Given the description of an element on the screen output the (x, y) to click on. 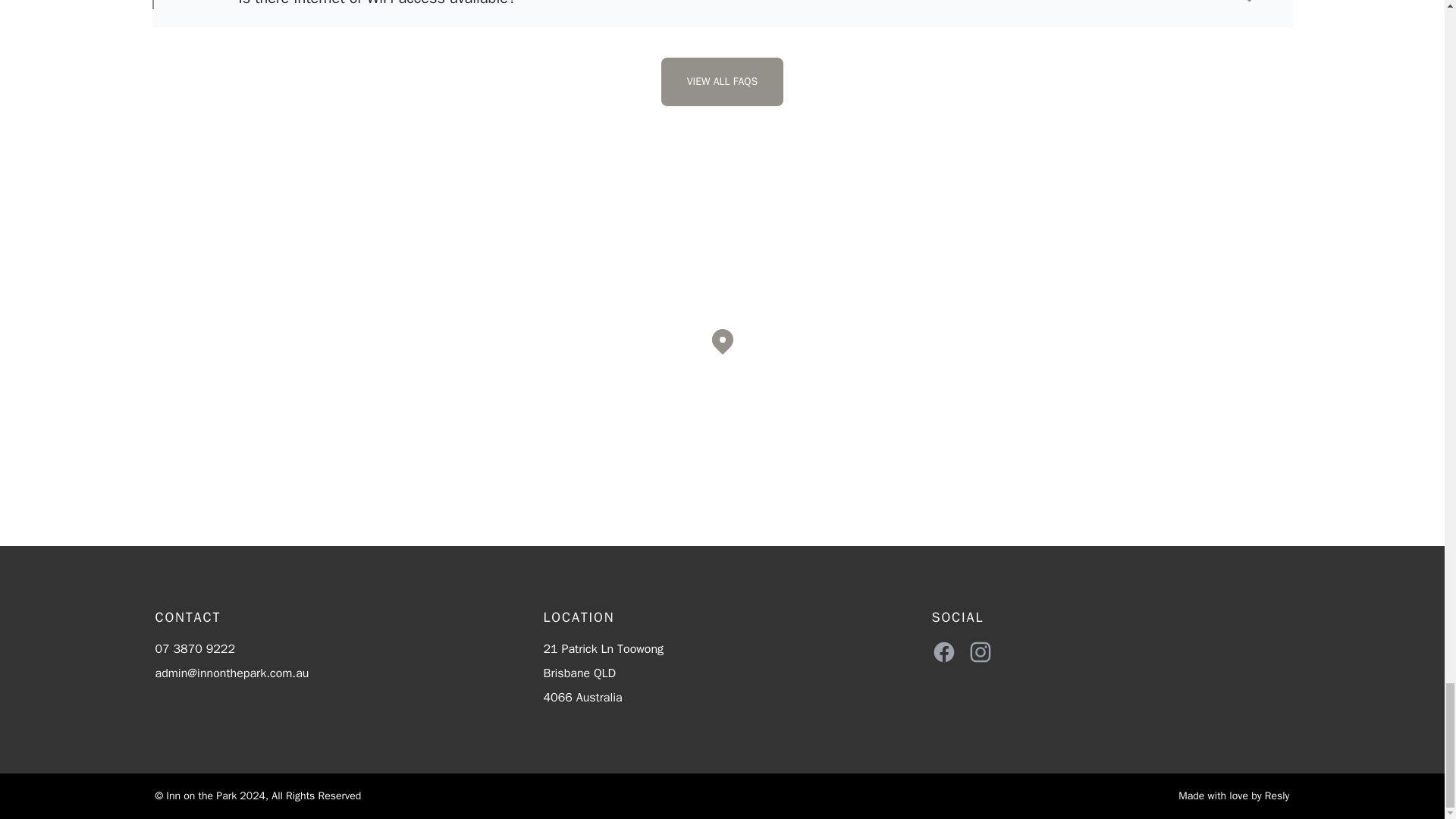
VIEW ALL FAQS (722, 81)
Facebook (943, 651)
Instagram (979, 651)
07 3870 9222 (194, 648)
Resly (1277, 795)
